Given the description of an element on the screen output the (x, y) to click on. 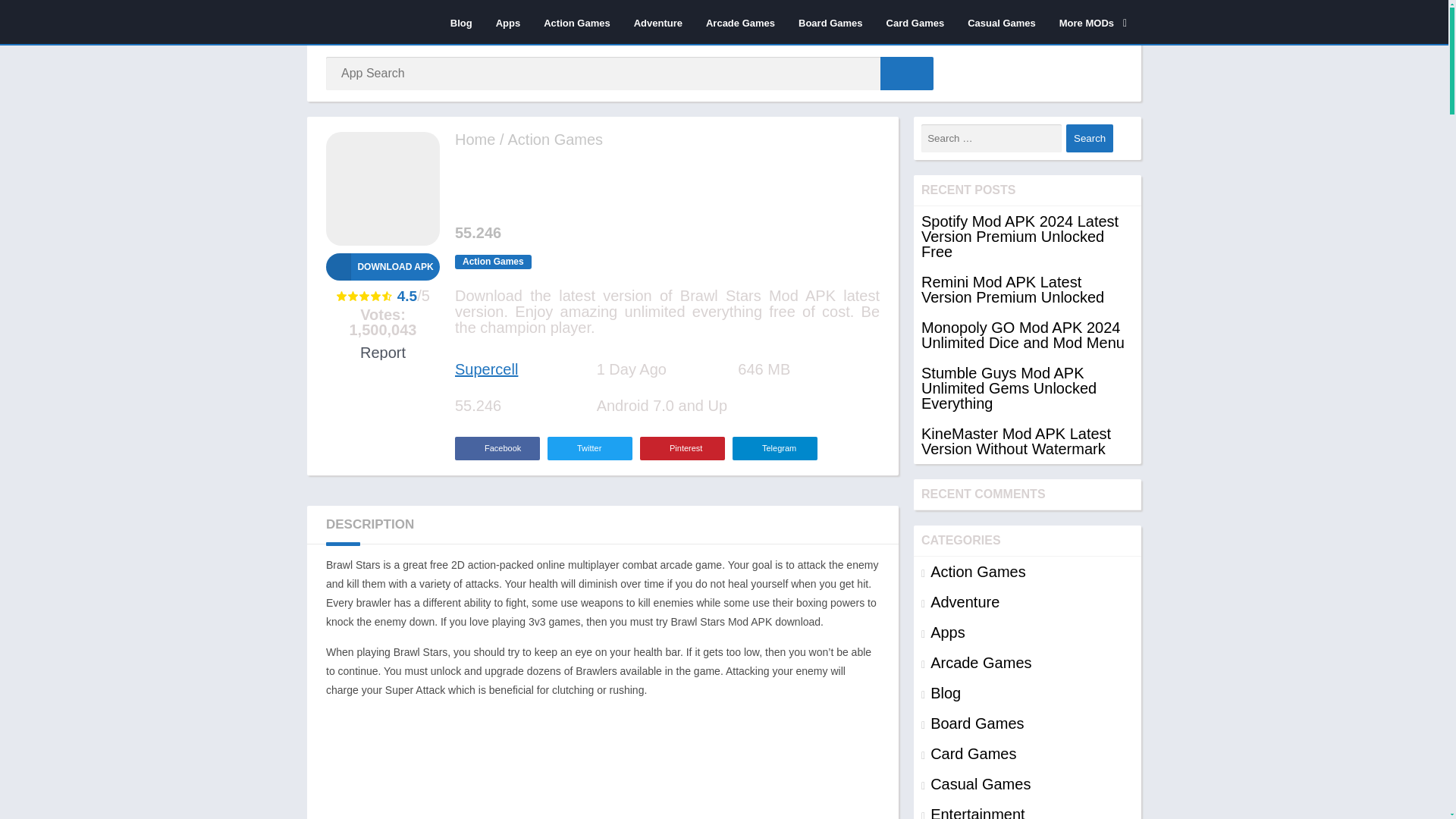
Report (382, 352)
Apkrage (474, 139)
Action Games (576, 22)
Search (1089, 138)
Telegram (774, 448)
App Search (906, 73)
Supercell (486, 369)
Facebook (497, 448)
Board Games (831, 22)
Pinterest (682, 448)
Blog (461, 22)
Search (1089, 138)
Apps (508, 22)
Casual Games (1001, 22)
Adventure (658, 22)
